Given the description of an element on the screen output the (x, y) to click on. 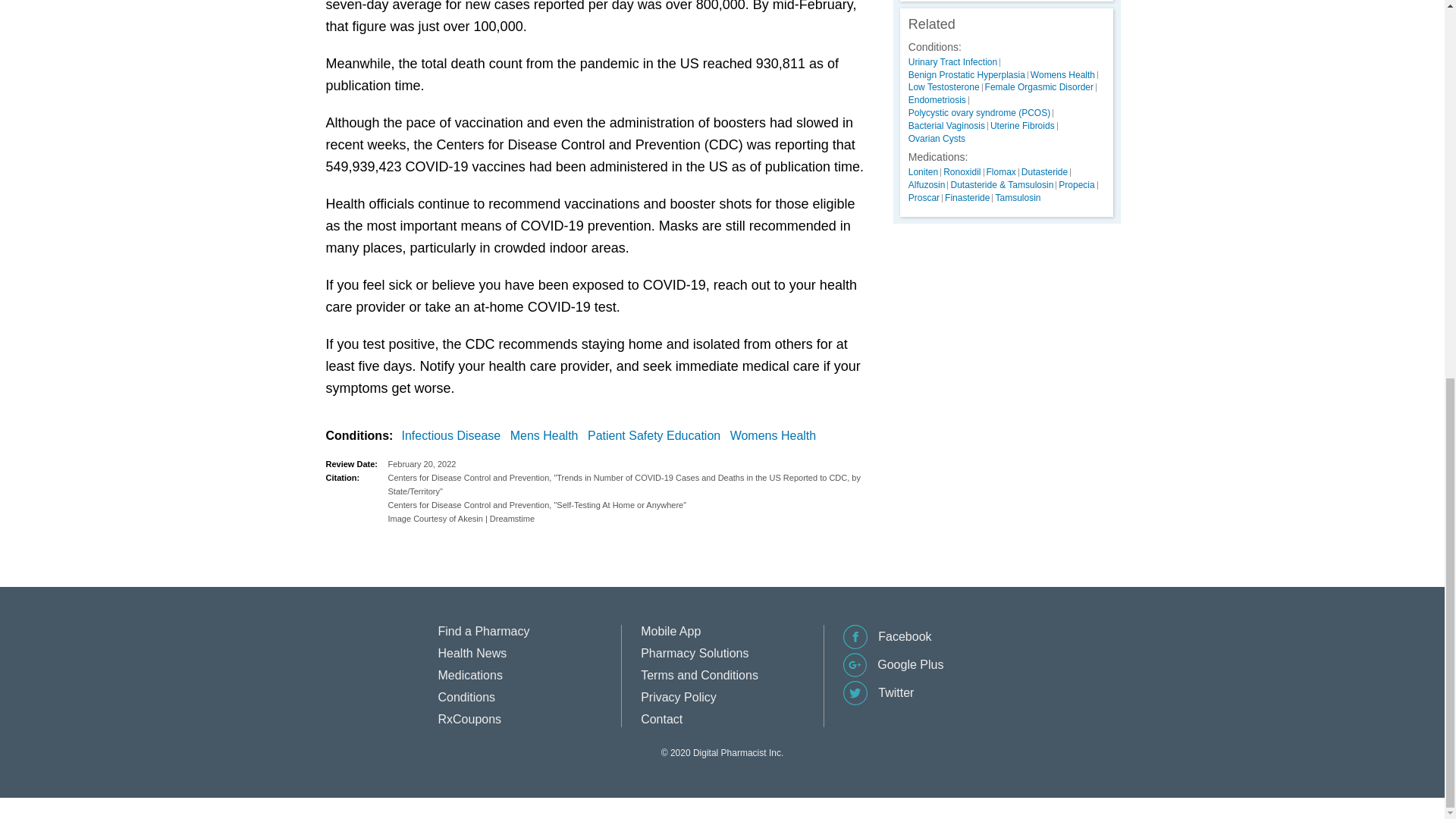
Womens Health (776, 435)
Mens Health (548, 435)
Infectious Disease (453, 435)
Patient Safety Education (657, 435)
